Given the description of an element on the screen output the (x, y) to click on. 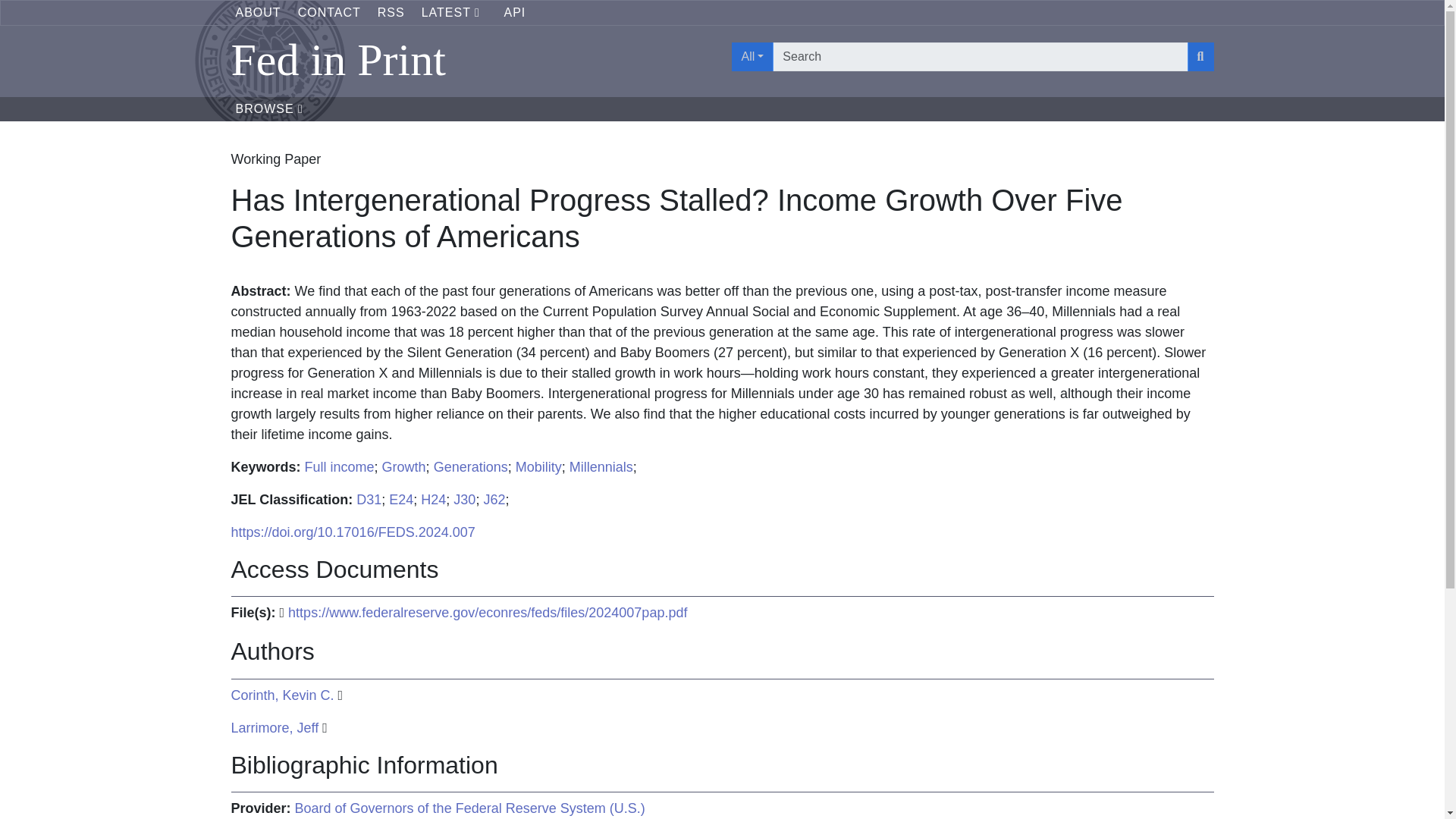
RSS (390, 11)
Fed in Print (471, 59)
ABOUT (257, 11)
LATEST (454, 11)
Full income (339, 467)
BROWSE (268, 108)
Generations (470, 467)
Mobility (538, 467)
All (751, 56)
D31 (368, 499)
